Given the description of an element on the screen output the (x, y) to click on. 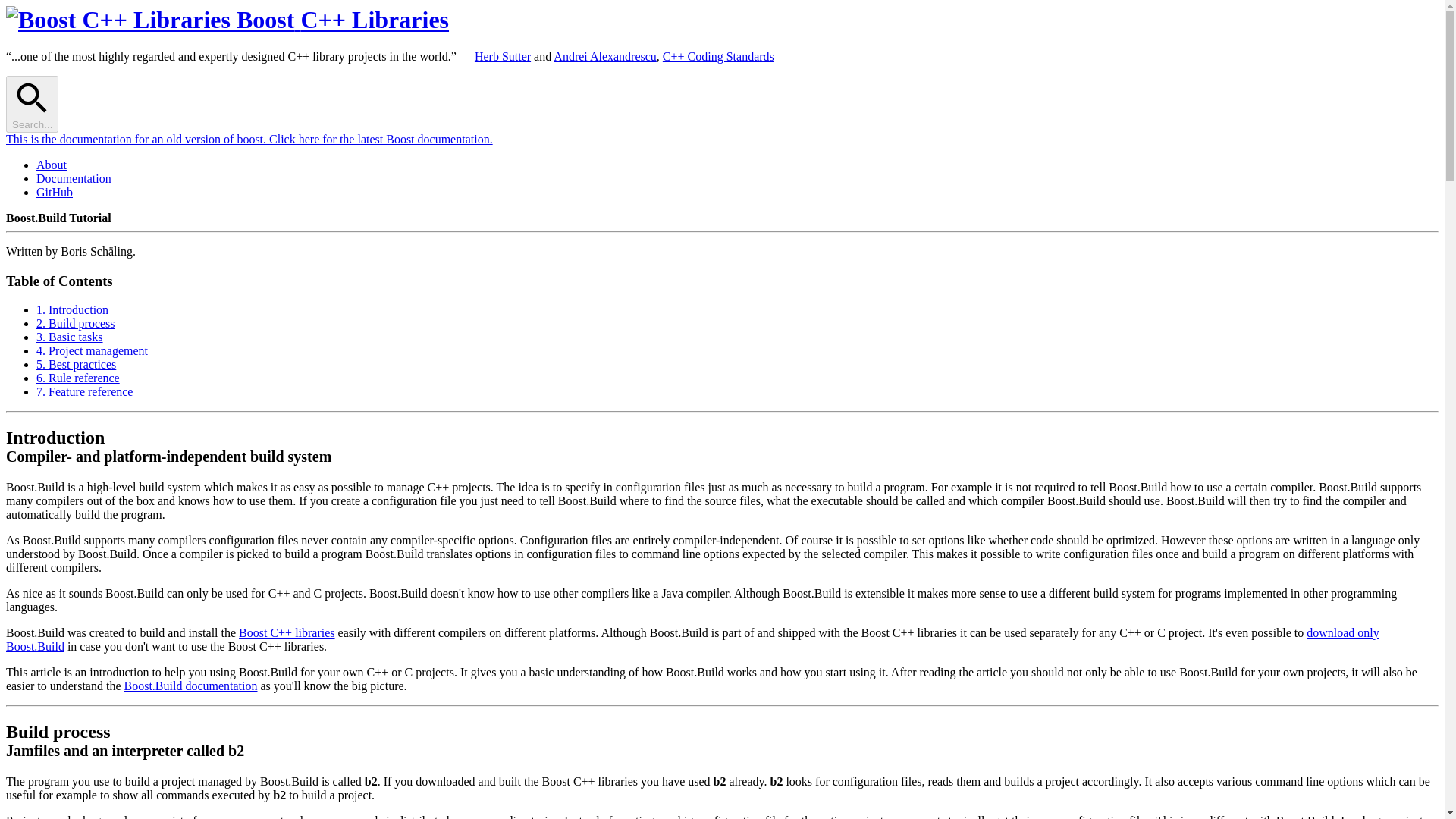
About (51, 164)
7. Feature reference (84, 391)
1. Introduction (71, 309)
download only Boost.Build (691, 639)
2. Build process (75, 323)
Boost.Build documentation (190, 685)
Search... (31, 103)
GitHub (54, 192)
6. Rule reference (77, 377)
Documentation (74, 178)
5. Best practices (76, 364)
3. Basic tasks (69, 336)
Herb Sutter (502, 56)
Andrei Alexandrescu (604, 56)
